Given the description of an element on the screen output the (x, y) to click on. 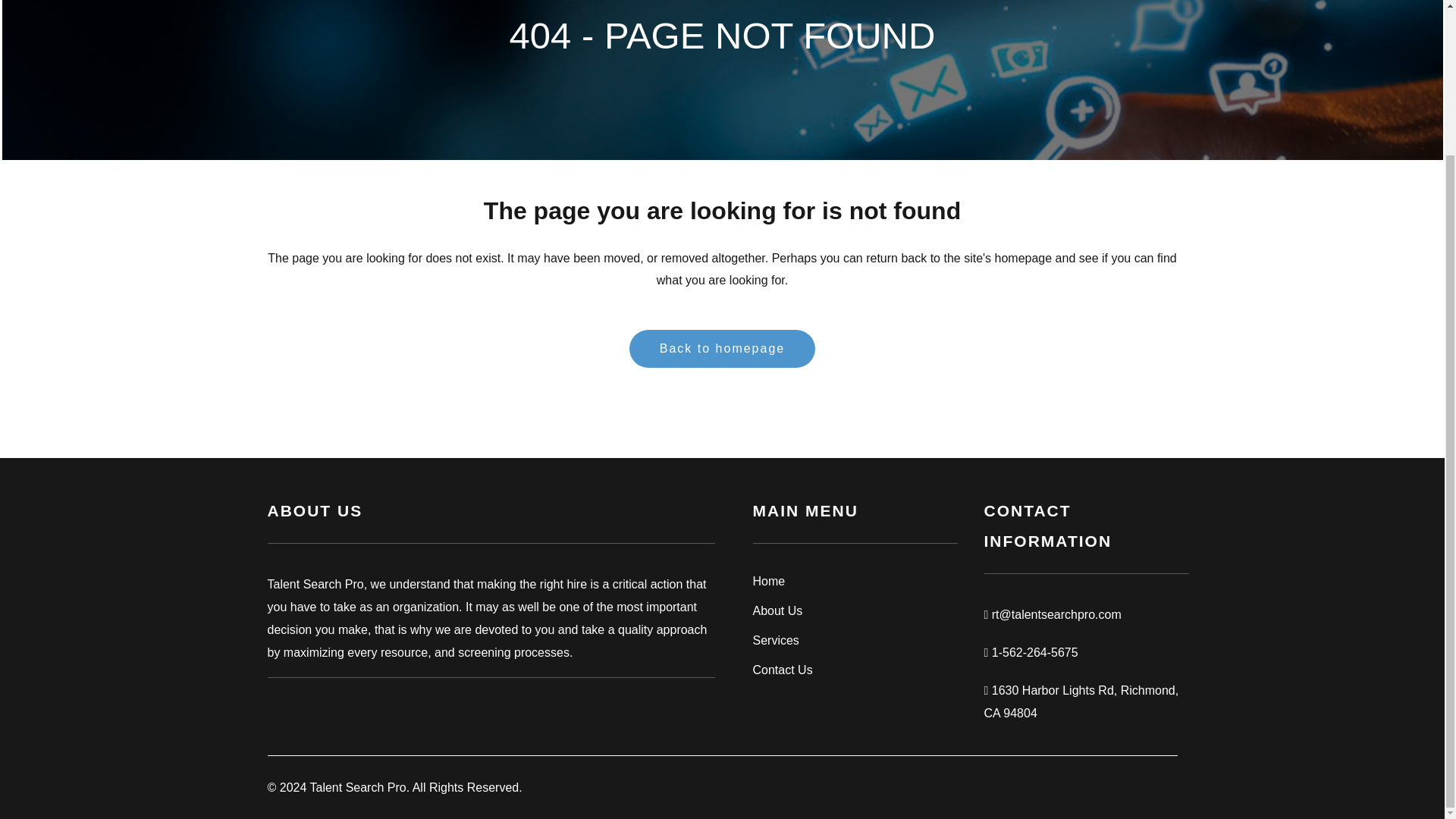
About Us (854, 610)
Home (854, 581)
Back to homepage (721, 348)
Contact Us (854, 669)
Services (854, 640)
